Given the description of an element on the screen output the (x, y) to click on. 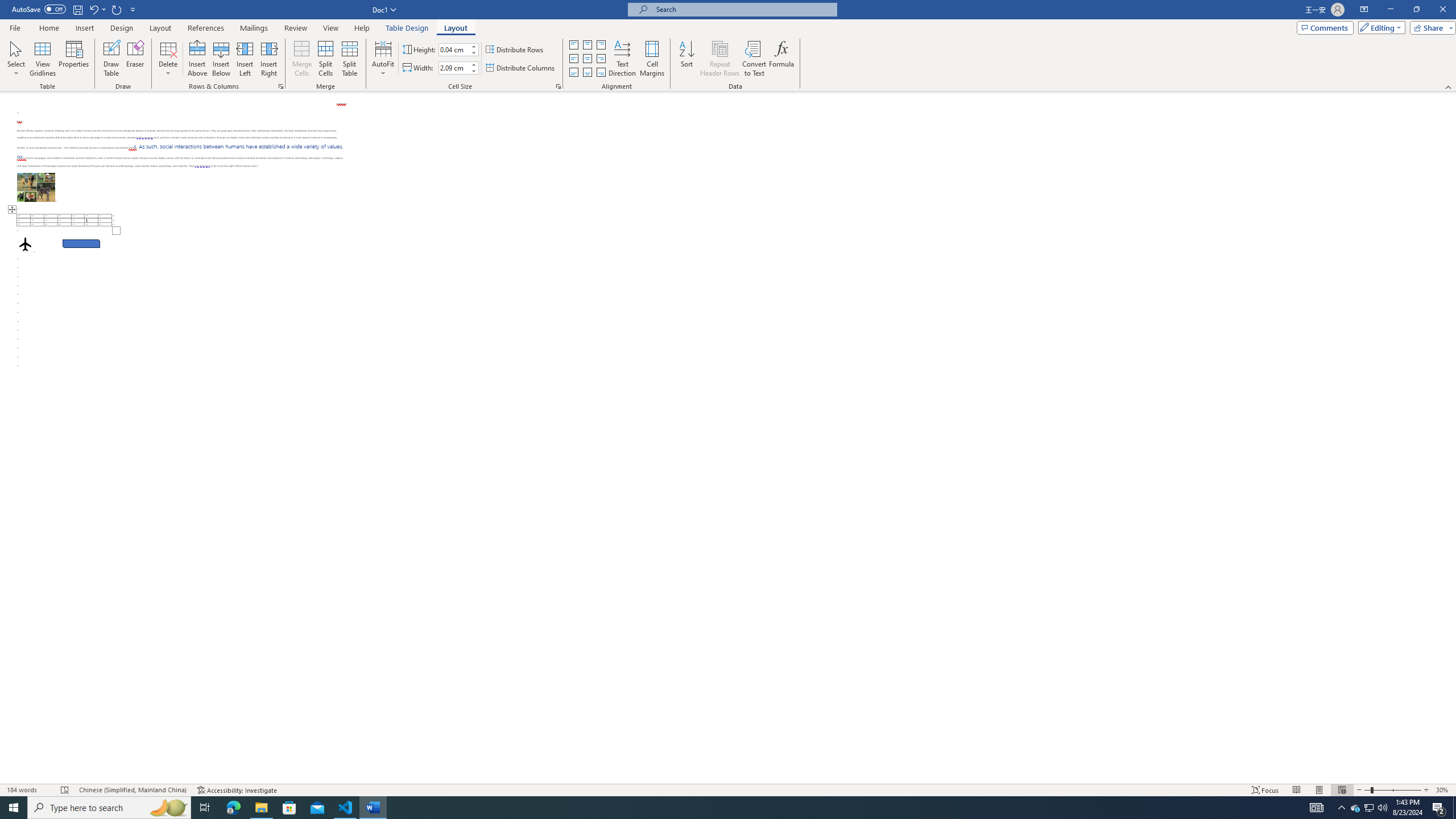
Insert Below (220, 58)
Convert to Text... (754, 58)
Align Center Right (601, 58)
Table Design (407, 28)
Table Row Height (453, 49)
Split Cells... (325, 58)
Formula... (780, 58)
